Given the description of an element on the screen output the (x, y) to click on. 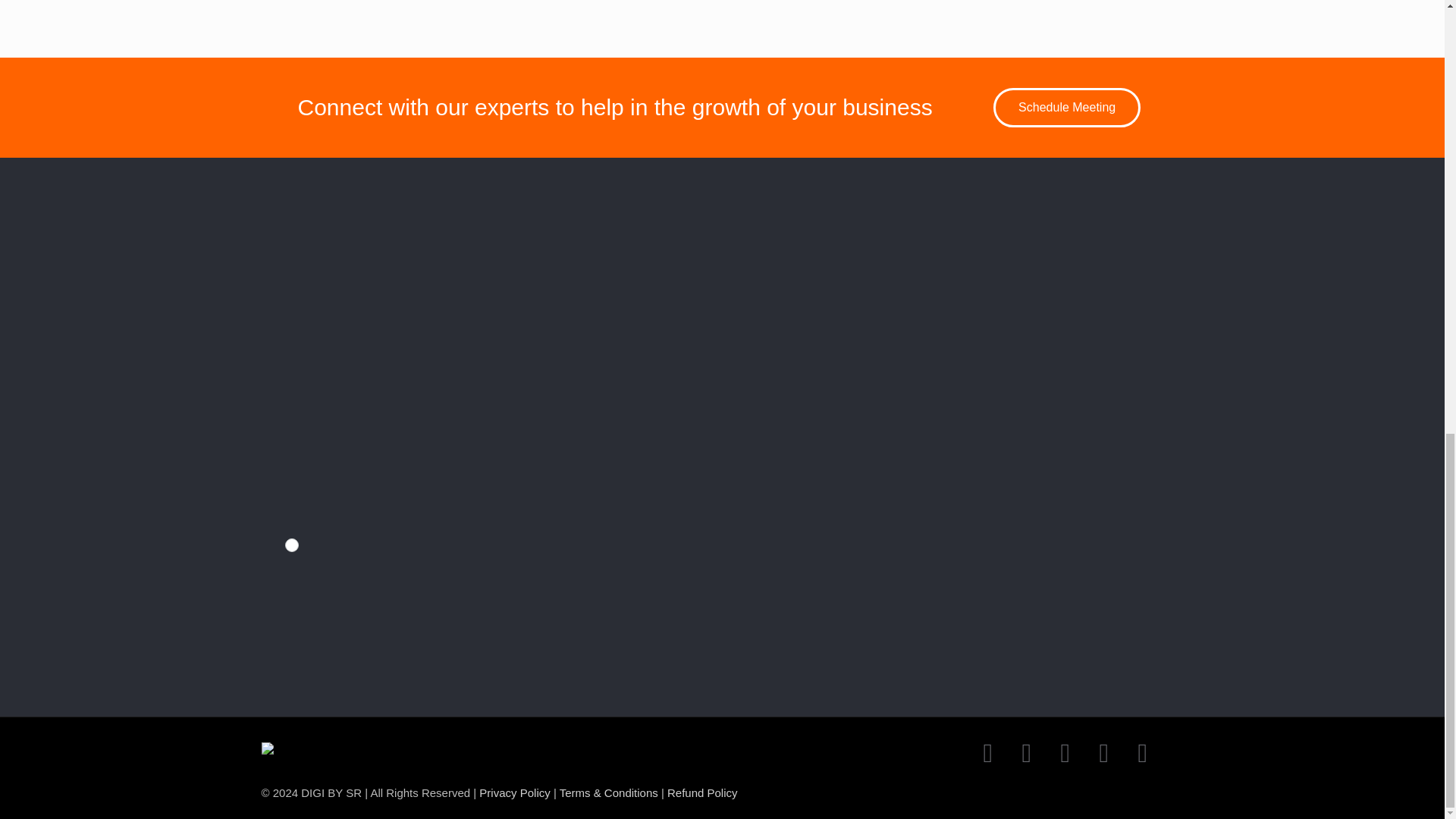
Behance (988, 757)
Instagram (1103, 757)
Dribbble (1026, 757)
LinkedIn (1142, 757)
Privacy Policy (514, 792)
Refund Policy (702, 792)
Schedule Meeting (1066, 107)
I accept your terms (291, 545)
